Given the description of an element on the screen output the (x, y) to click on. 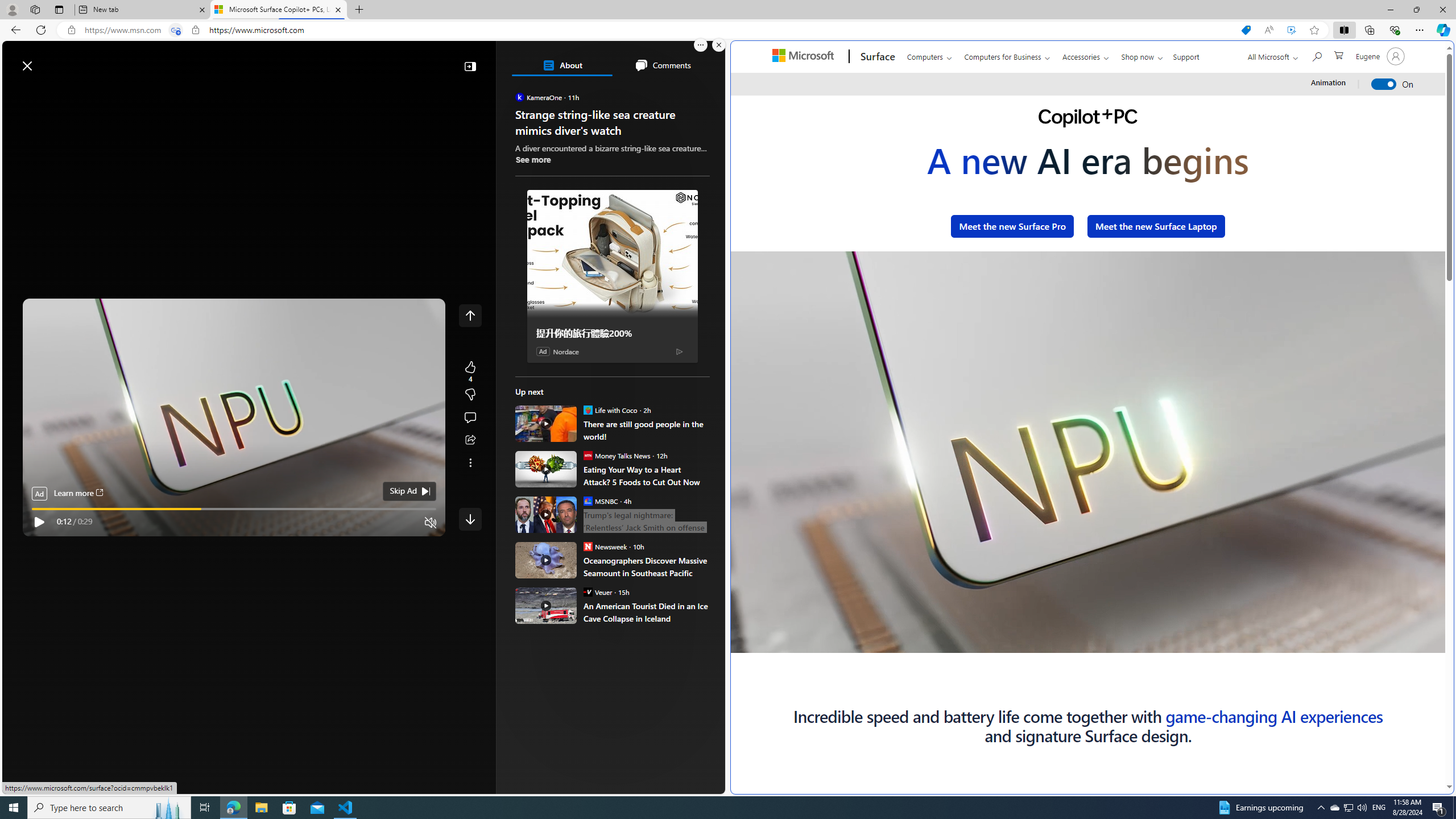
ABC News (554, 415)
Microsoft (804, 56)
Share this story (469, 440)
Eating Your Way to a Heart Attack? 5 Foods to Cut Out Now (545, 468)
Newsweek Newsweek (604, 546)
video progress bar (234, 509)
Account manager for Eugene (1378, 55)
Open settings (699, 60)
